Given the description of an element on the screen output the (x, y) to click on. 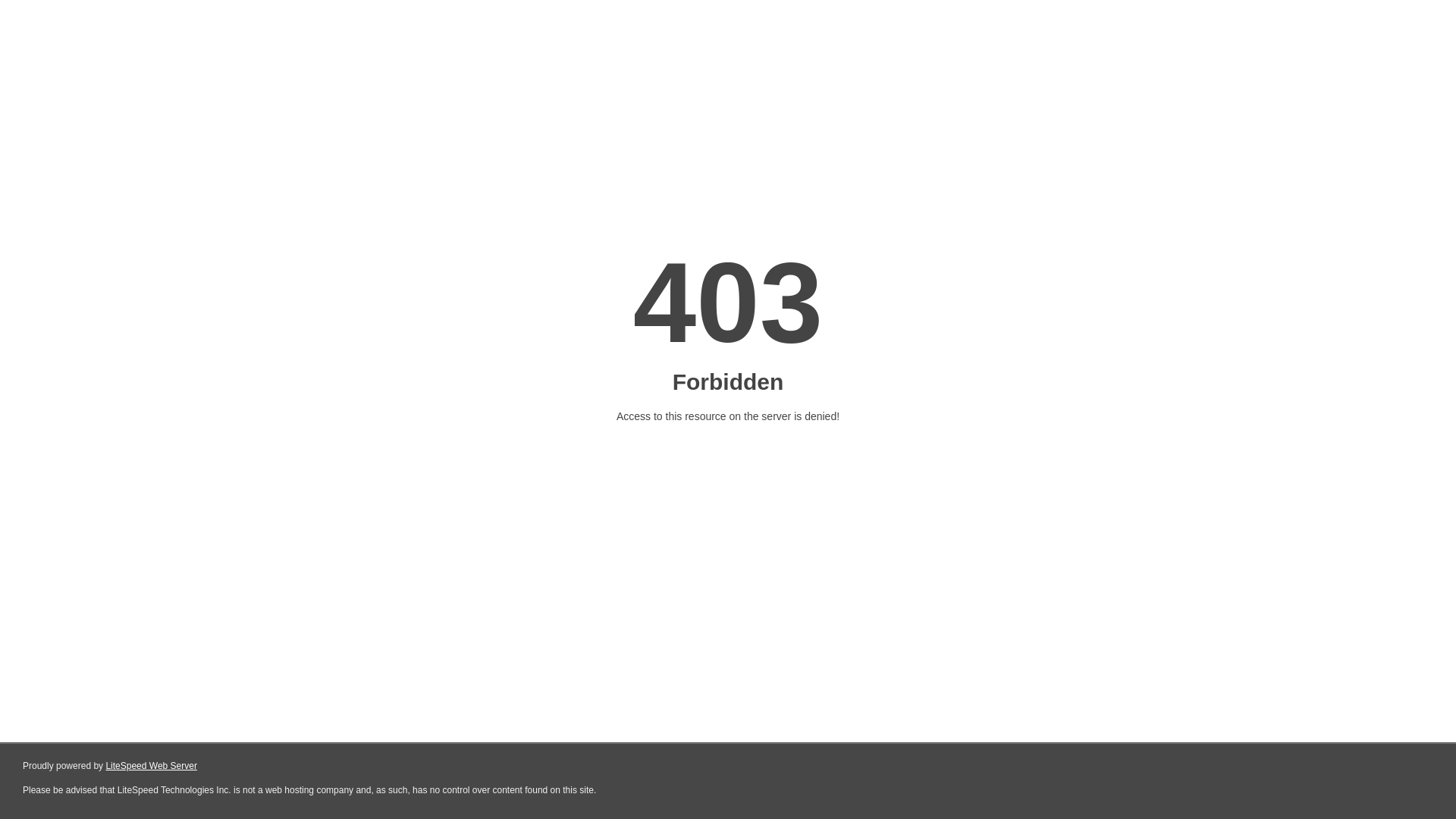
LiteSpeed Web Server Element type: text (151, 765)
